Given the description of an element on the screen output the (x, y) to click on. 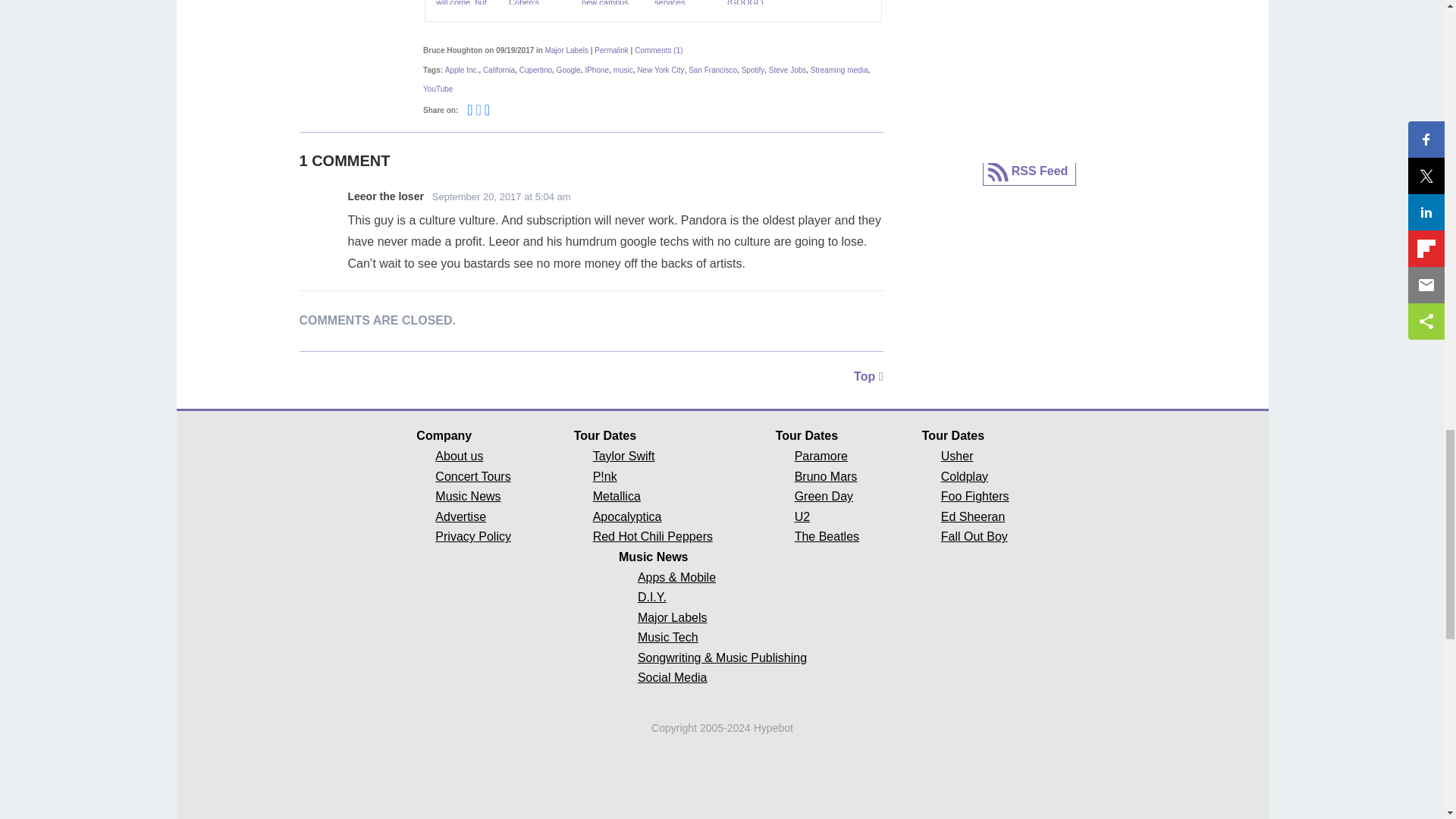
View all posts in Major Labels (566, 49)
